Given the description of an element on the screen output the (x, y) to click on. 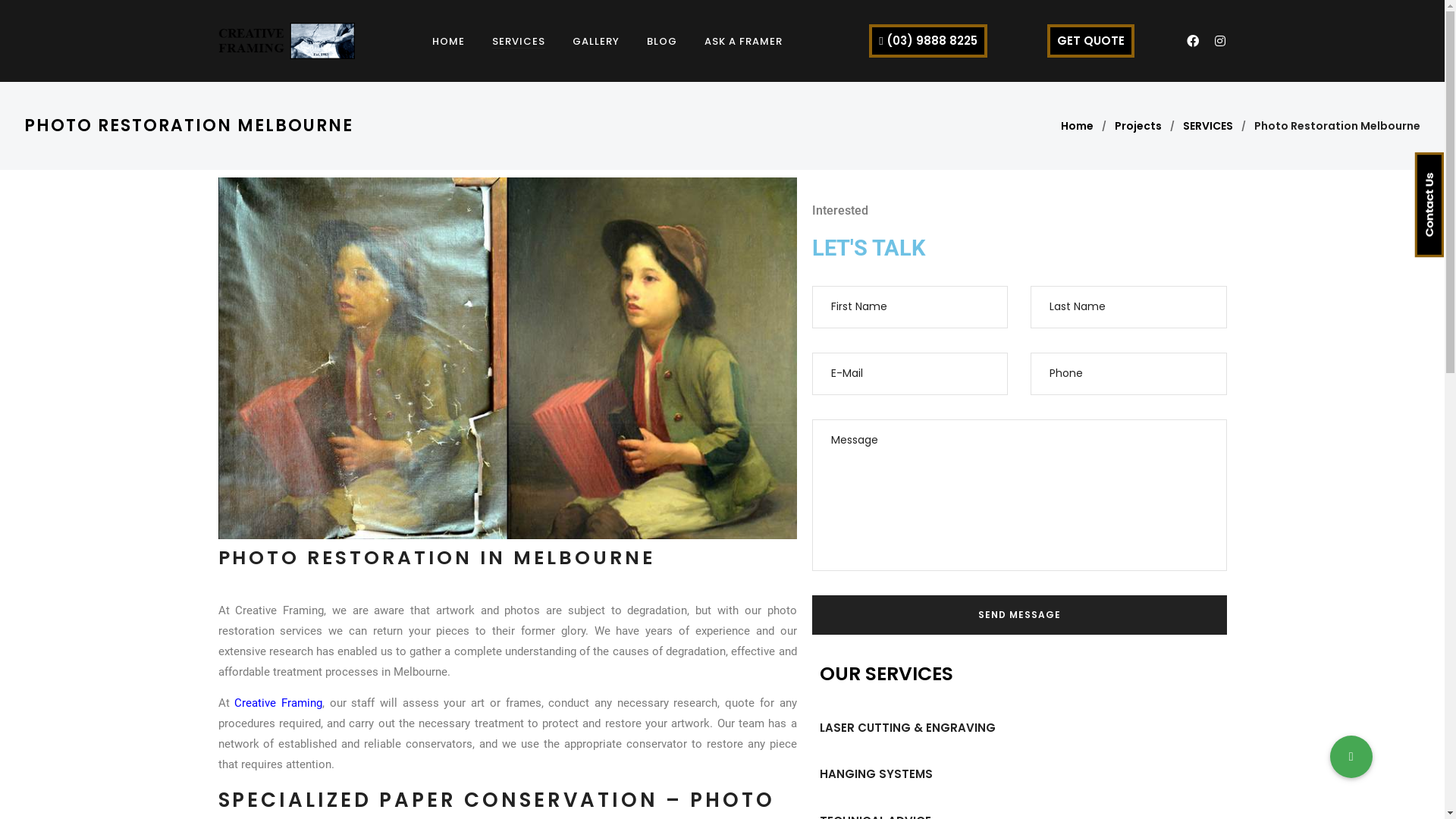
Submit Element type: text (47, 19)
ASK A FRAMER Element type: text (743, 41)
HOME Element type: text (448, 41)
Home Element type: text (1076, 125)
SERVICES Element type: text (518, 41)
Send Message Element type: text (1018, 614)
BLOG Element type: text (661, 41)
(03) 9888 8225 Element type: text (927, 40)
SERVICES Element type: text (1208, 125)
GET QUOTE Element type: text (1090, 40)
LASER CUTTING & ENGRAVING Element type: text (906, 727)
HANGING SYSTEMS Element type: text (875, 773)
GALLERY Element type: text (595, 41)
